Given the description of an element on the screen output the (x, y) to click on. 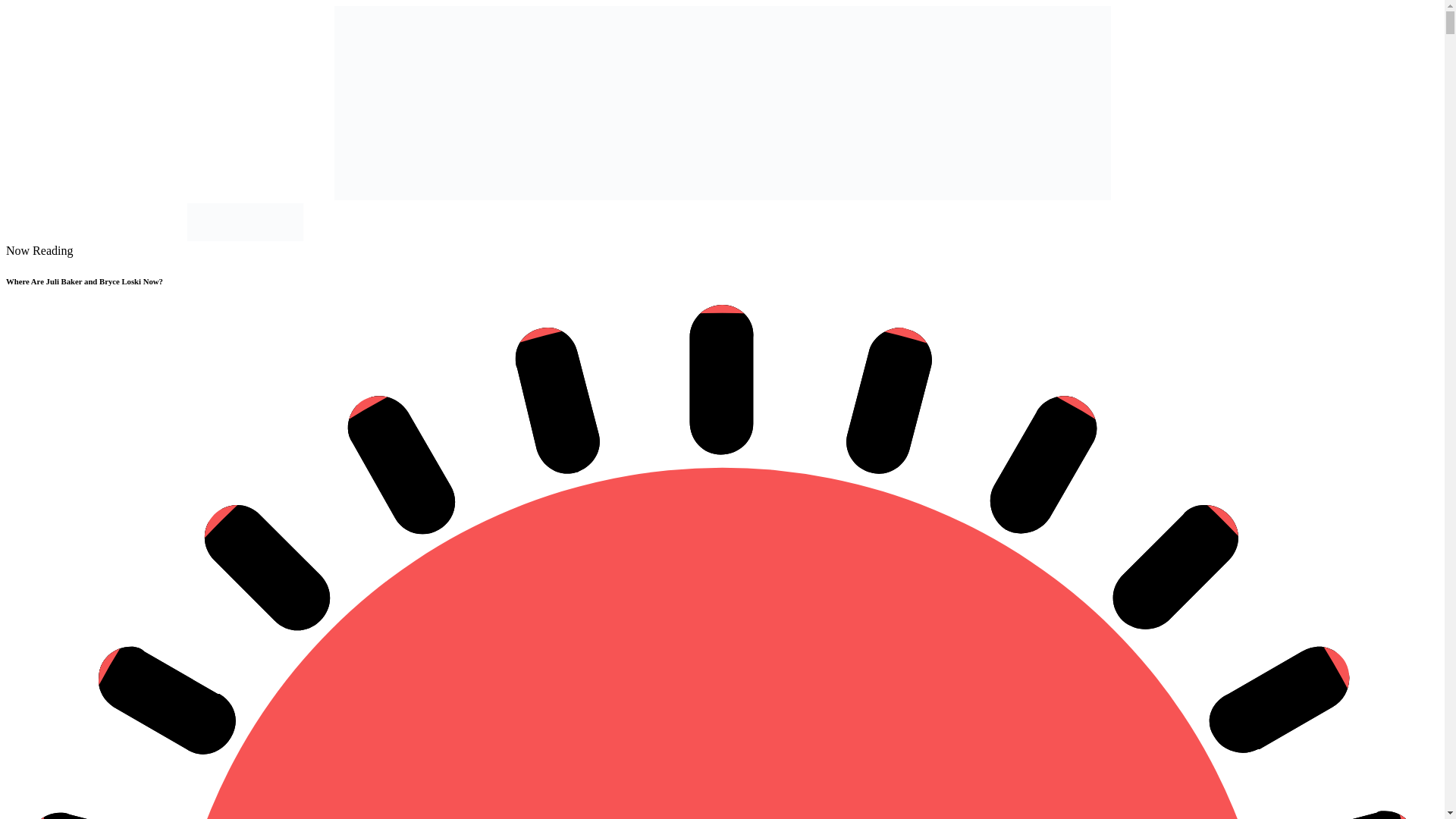
Your Guide to the Big City (244, 236)
